Given the description of an element on the screen output the (x, y) to click on. 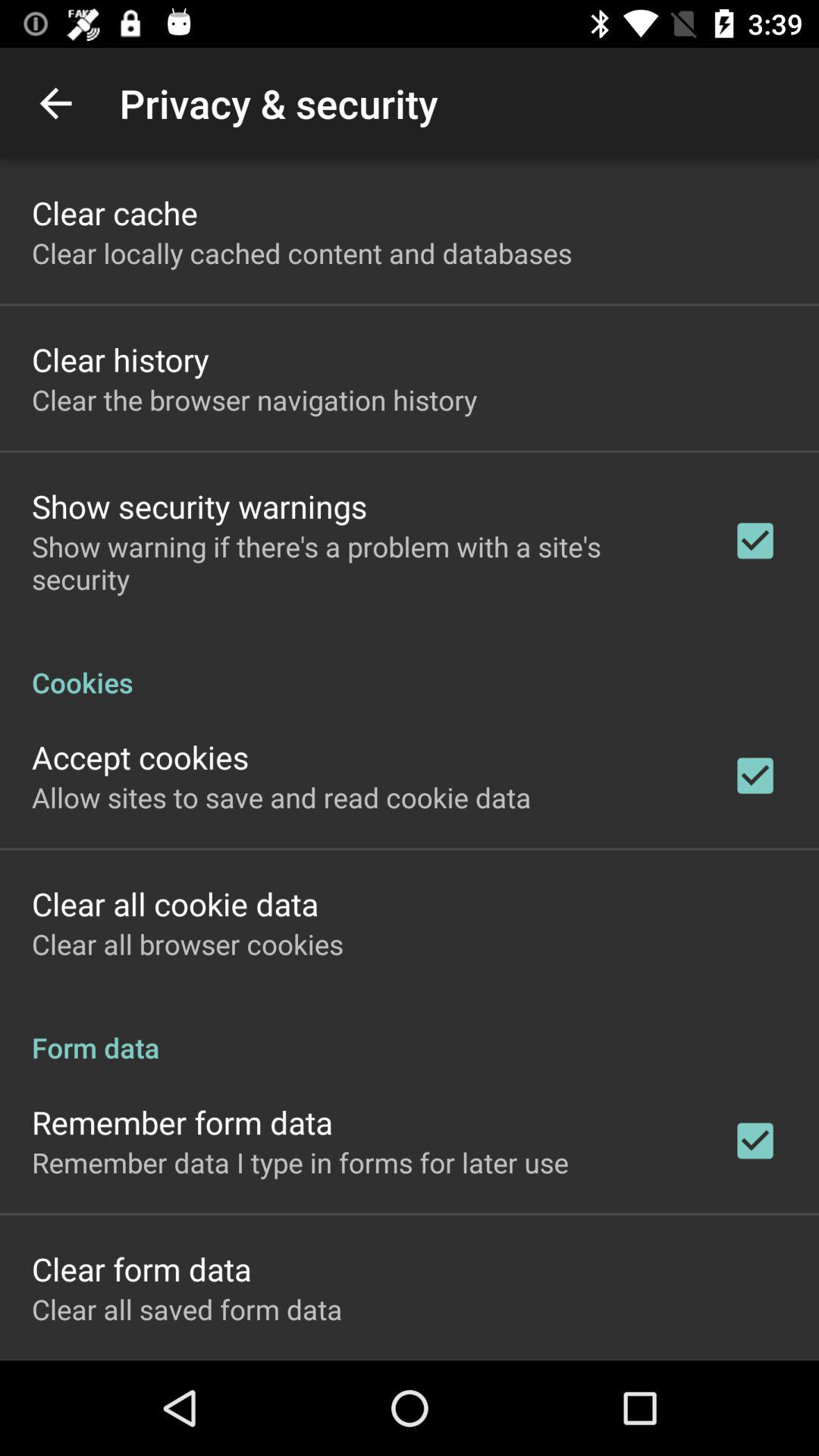
select the app below clear cache icon (301, 252)
